Given the description of an element on the screen output the (x, y) to click on. 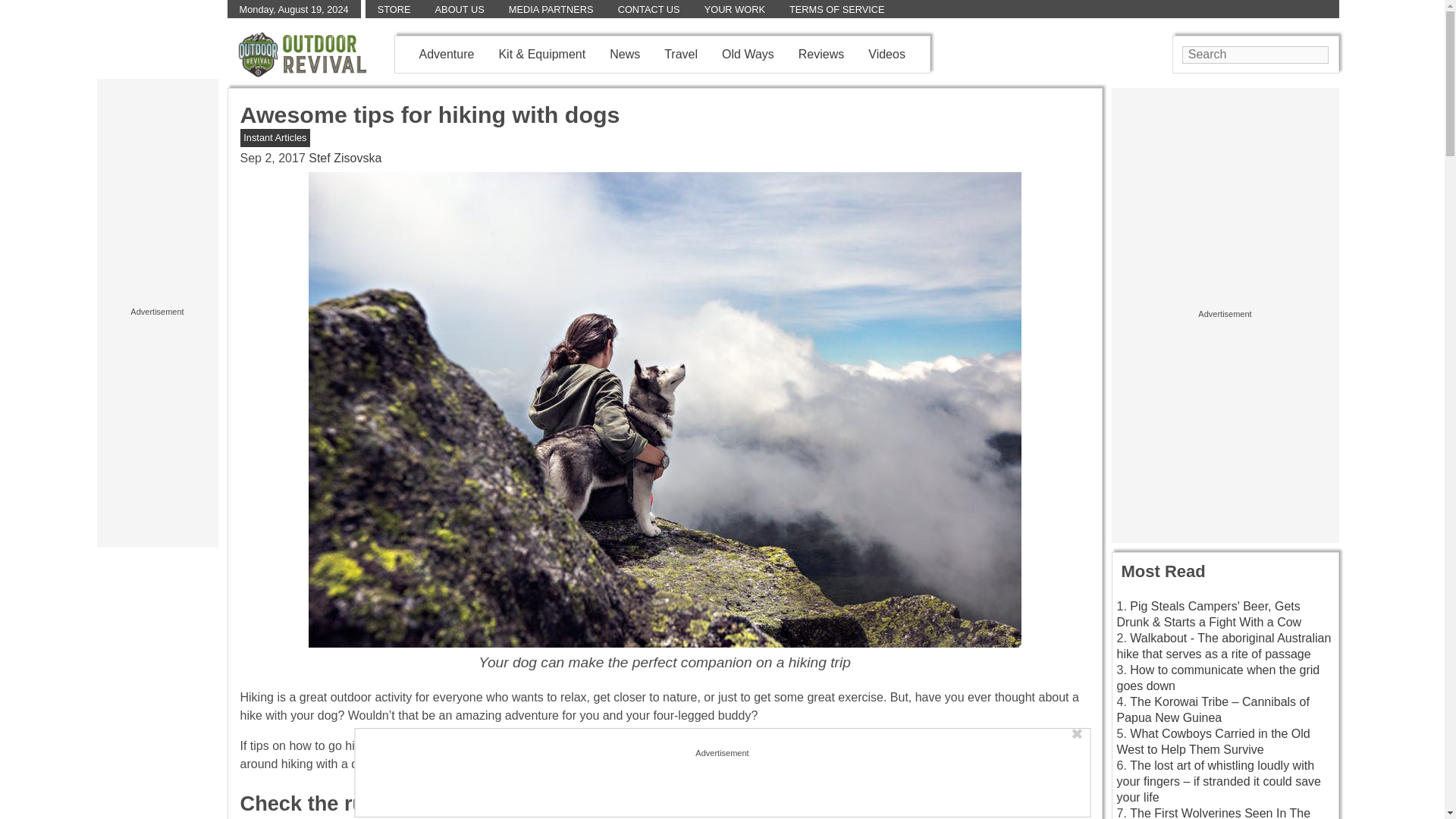
Stef Zisovska (344, 157)
The First Wolverines Seen In The Wild For Over 100 Years (1213, 812)
Instant Articles (274, 137)
CONTACT US (648, 9)
News (625, 53)
How to communicate when the grid goes down (1217, 677)
Old Ways (748, 53)
What Cowboys Carried in the Old West to Help Them Survive (1212, 741)
TERMS OF SERVICE (837, 9)
